Given the description of an element on the screen output the (x, y) to click on. 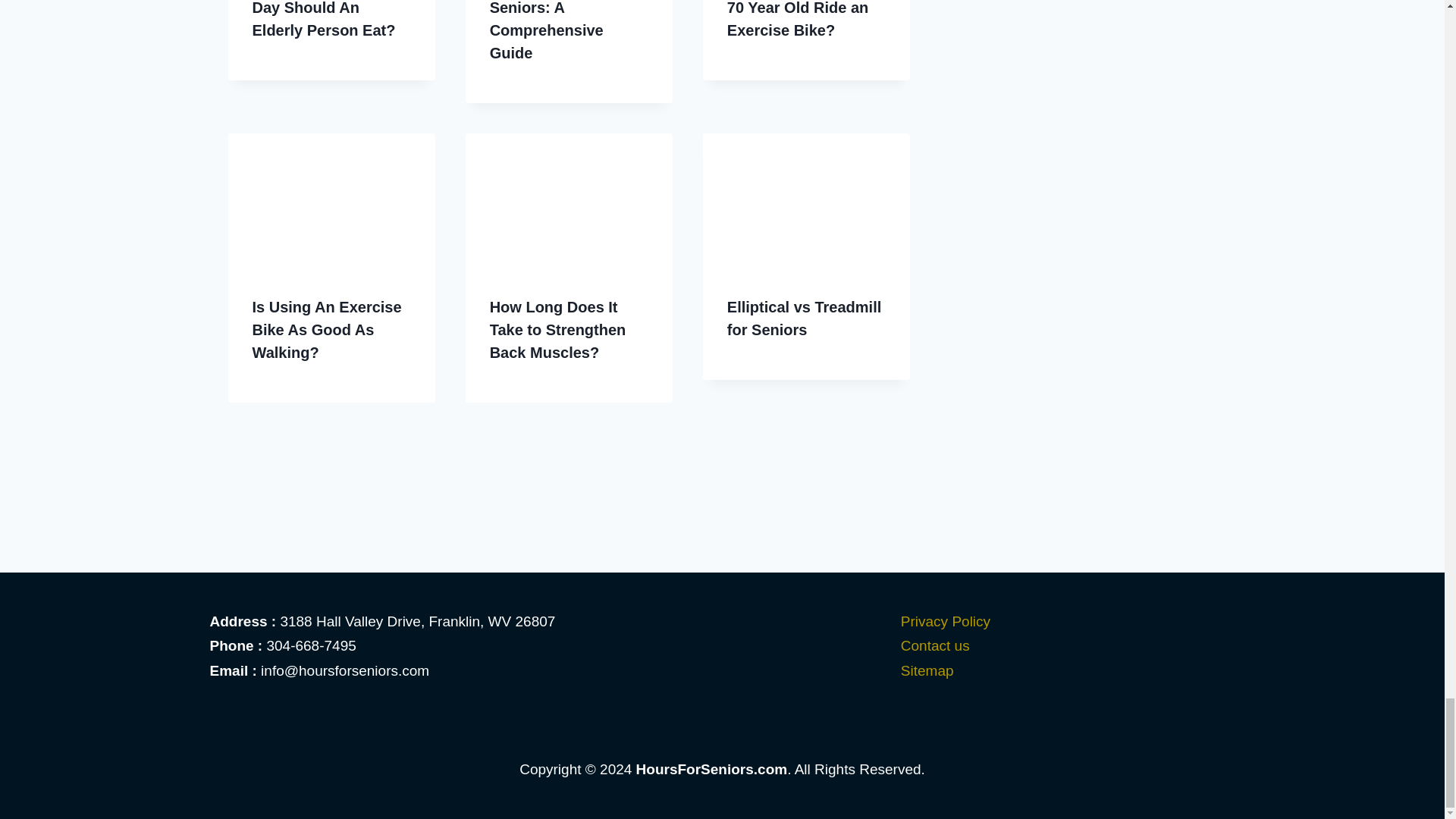
How Long Does It Take to Strengthen Back Muscles? (557, 329)
How Many Meals A Day Should An Elderly Person Eat? (322, 19)
Is Using An Exercise Bike As Good As Walking? (326, 329)
How Long Should a 70 Year Old Ride an Exercise Bike? (797, 19)
Chair Yoga for Seniors: A Comprehensive Guide (546, 30)
Elliptical vs Treadmill for Seniors (803, 318)
